Given the description of an element on the screen output the (x, y) to click on. 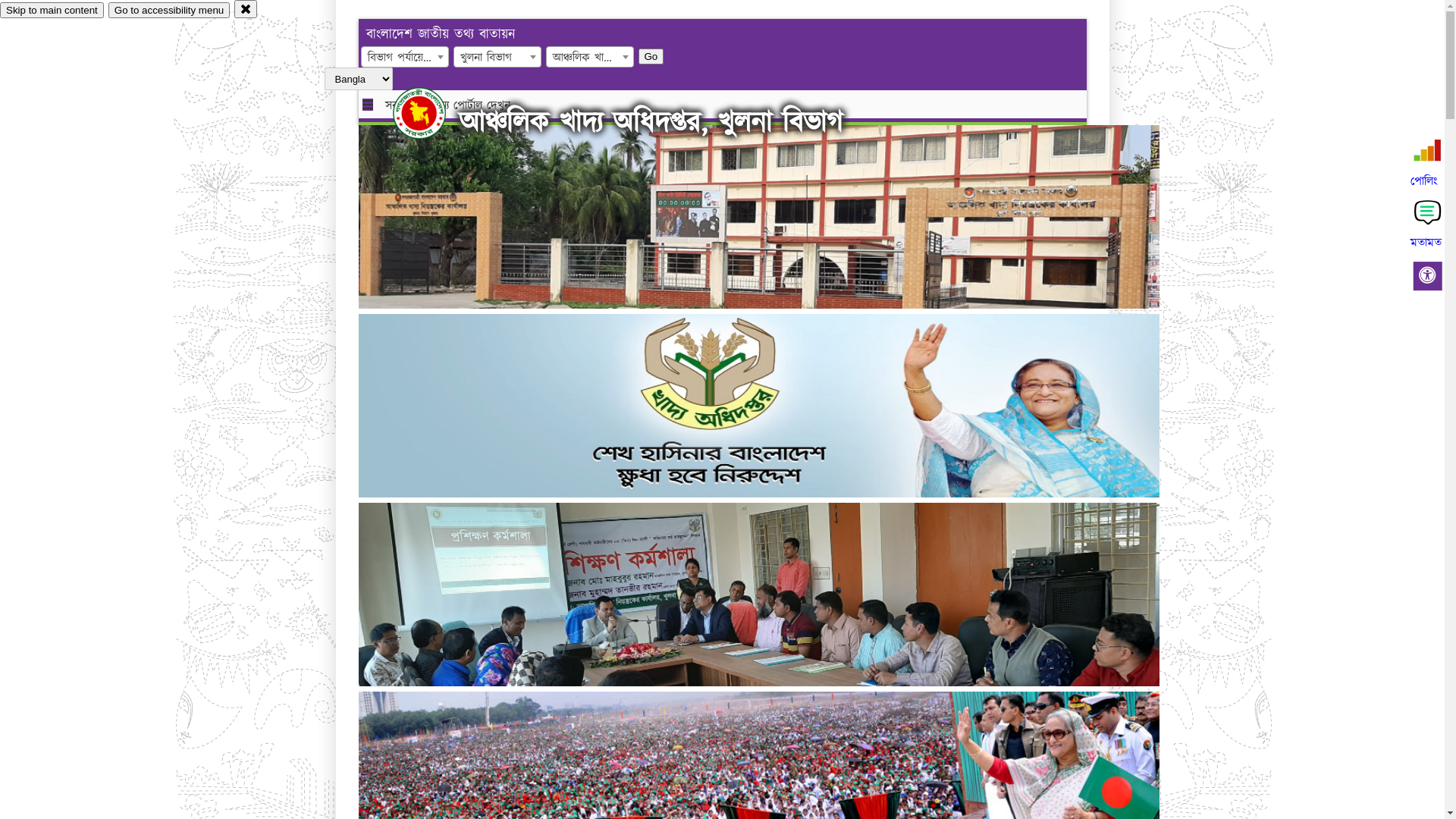
Skip to main content Element type: text (51, 10)

                
             Element type: hover (431, 112)
Go to accessibility menu Element type: text (168, 10)
Go Element type: text (651, 56)
close Element type: hover (245, 9)
